Given the description of an element on the screen output the (x, y) to click on. 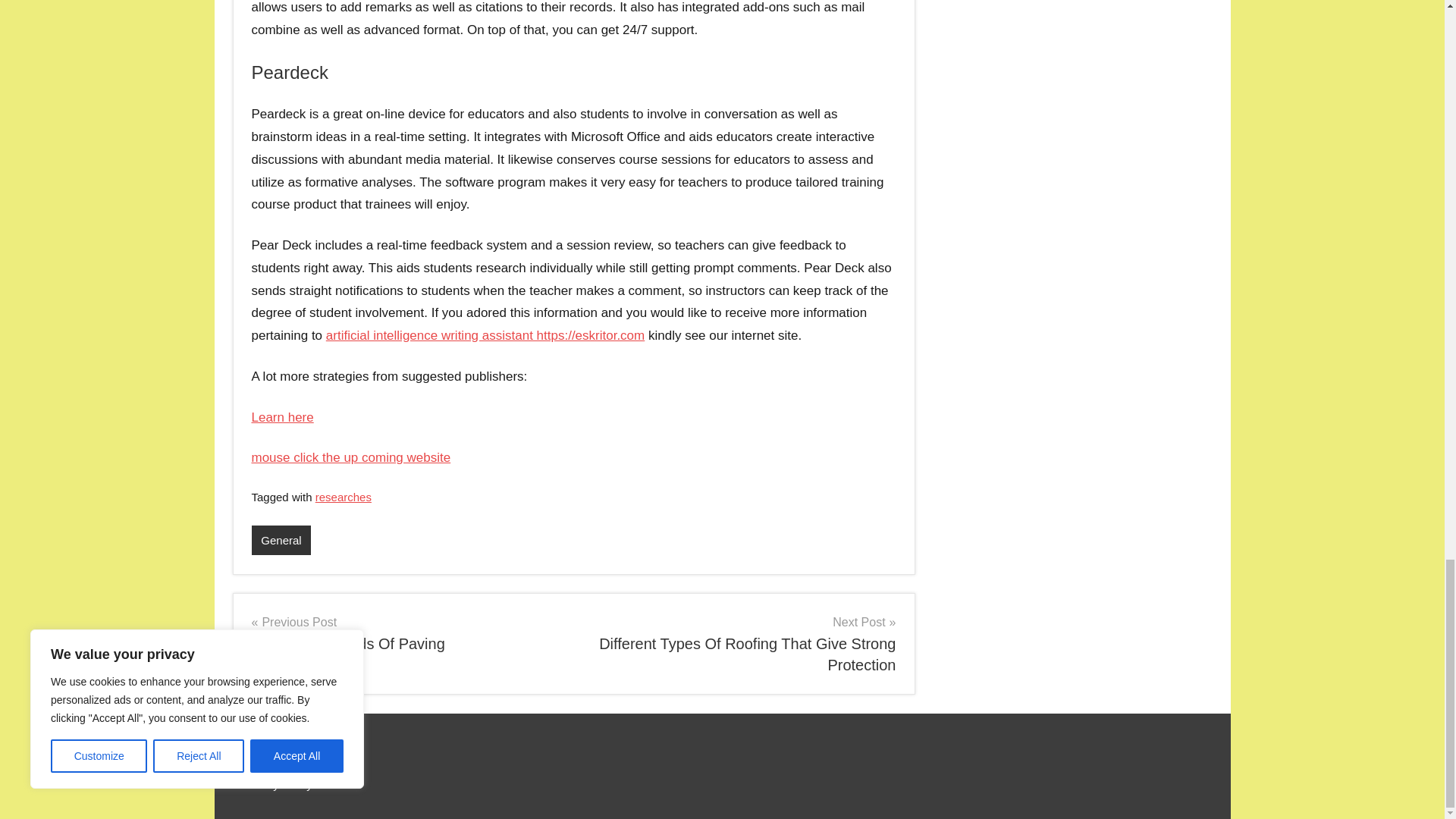
researches (343, 496)
General (281, 540)
Learn here (406, 632)
mouse click the up coming website (282, 417)
